Given the description of an element on the screen output the (x, y) to click on. 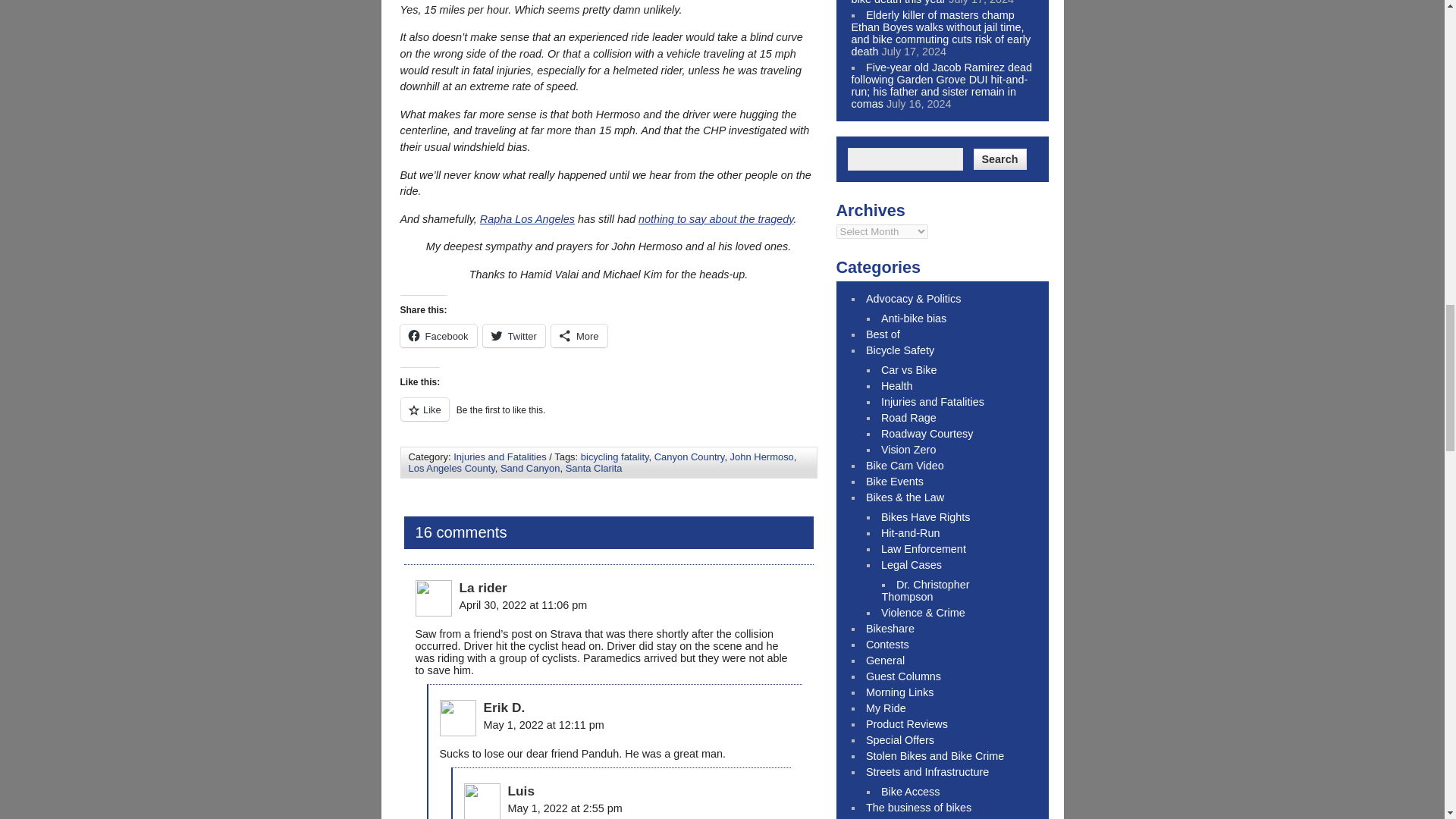
More (579, 335)
Rapha Los Angeles (527, 218)
Twitter (513, 335)
Like or Reblog (608, 417)
Click to share on Twitter (513, 335)
Facebook (438, 335)
nothing to say about the tragedy (716, 218)
Search (1000, 158)
Click to share on Facebook (438, 335)
